Given the description of an element on the screen output the (x, y) to click on. 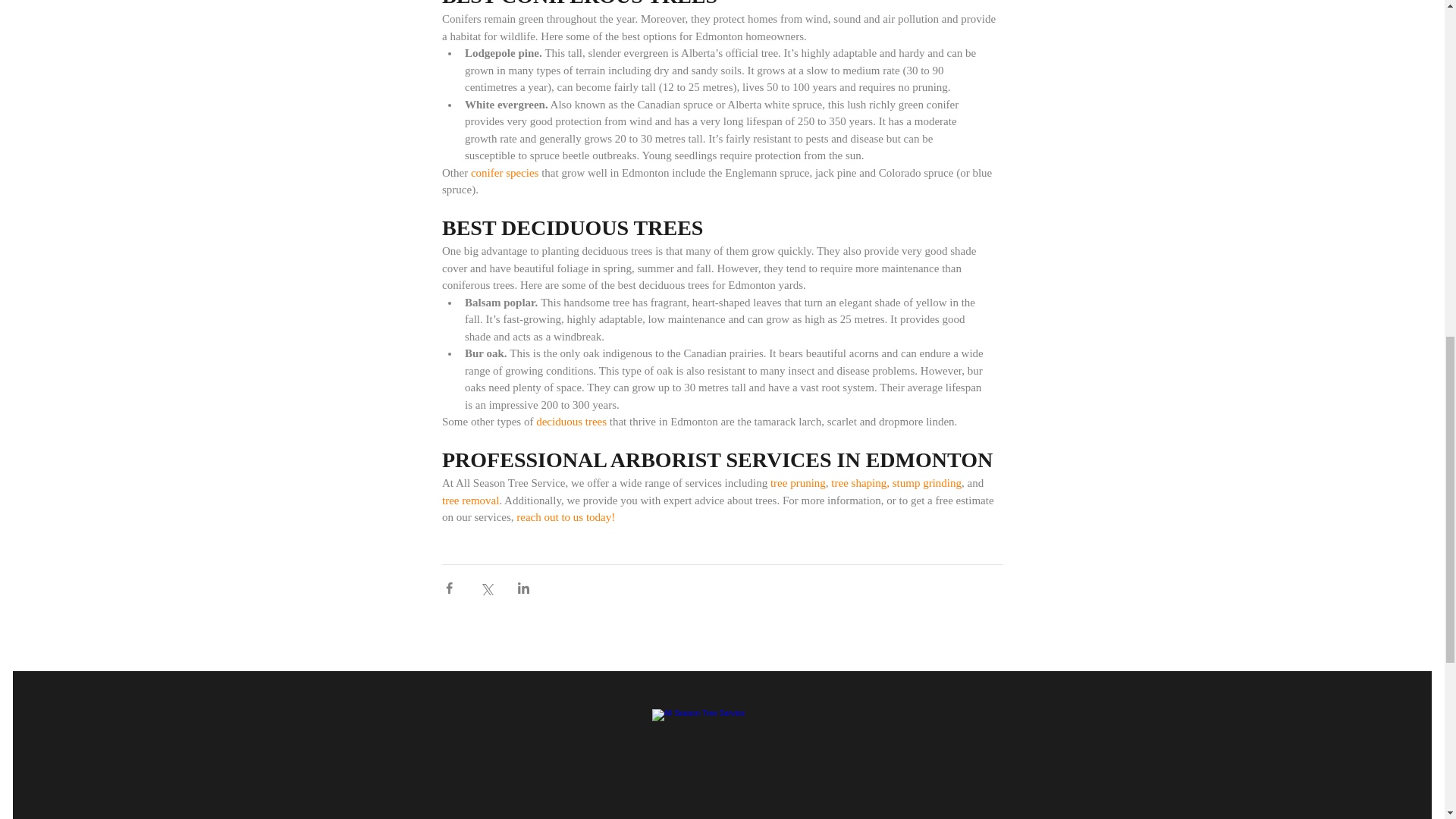
tree pruning (797, 483)
tree removal (469, 500)
deciduous trees (571, 422)
conifer species (504, 173)
stump grinding (925, 483)
reach out to us today! (565, 517)
tree shaping, (860, 483)
